Given the description of an element on the screen output the (x, y) to click on. 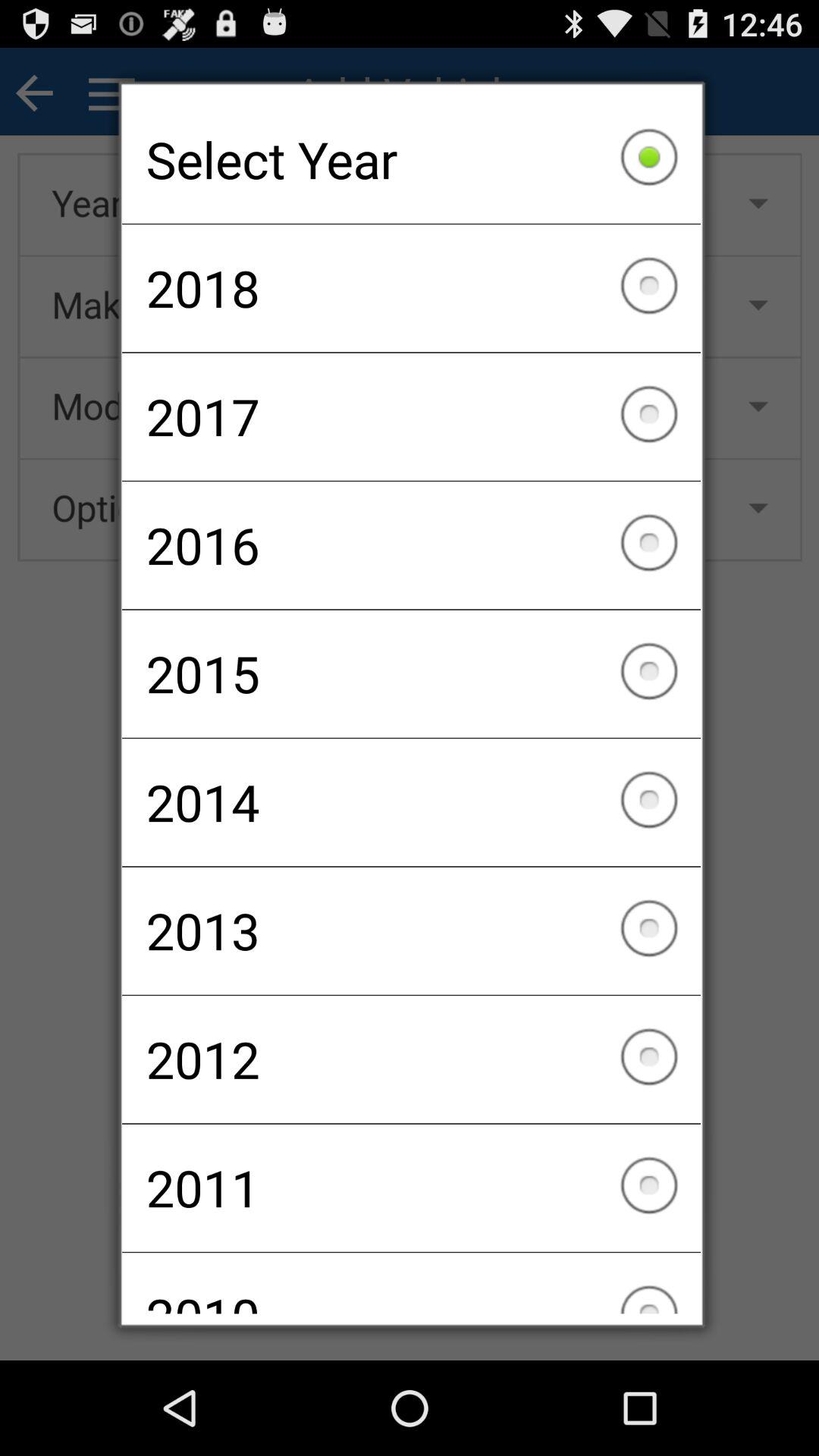
scroll to the 2016 item (411, 545)
